Given the description of an element on the screen output the (x, y) to click on. 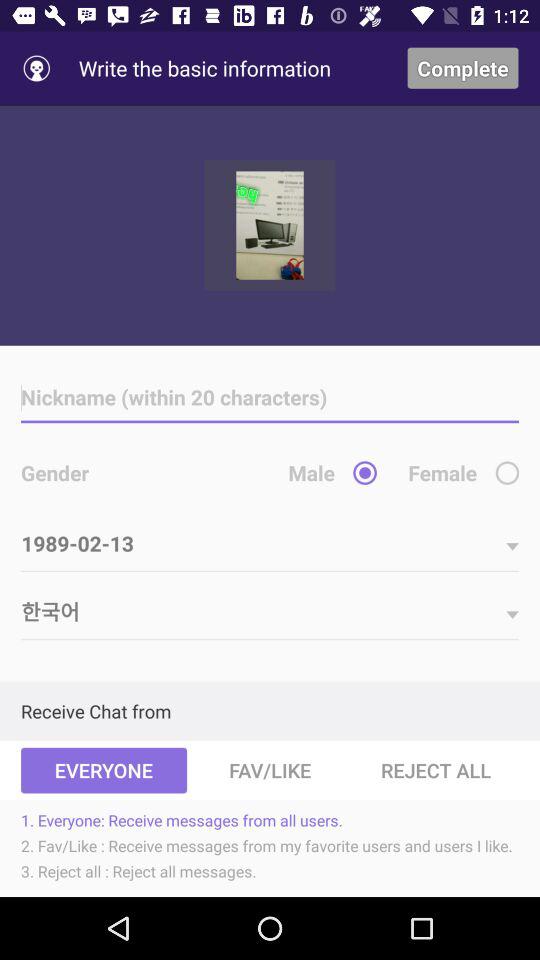
enlarge image (269, 225)
